Given the description of an element on the screen output the (x, y) to click on. 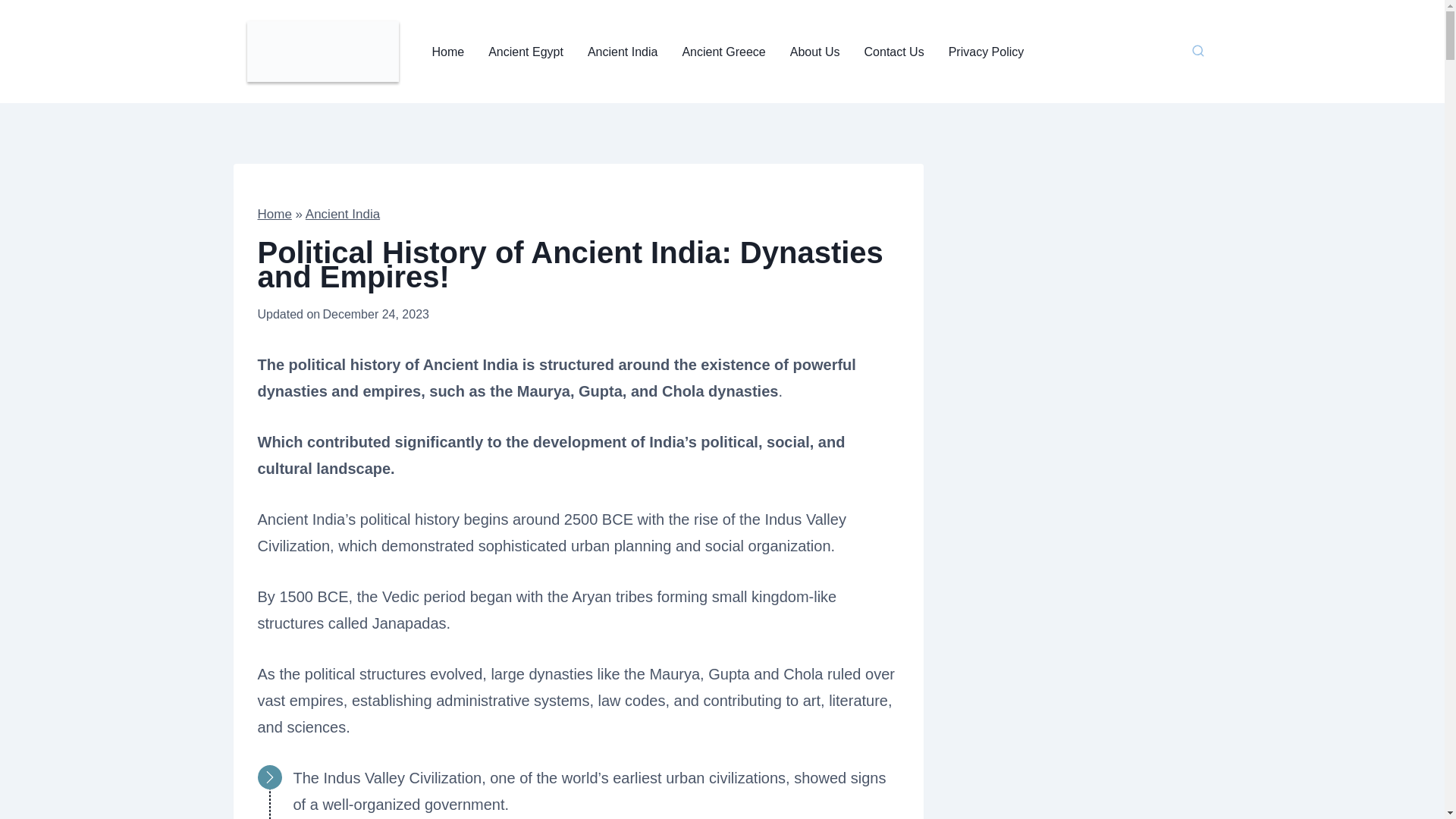
Ancient India (622, 51)
Ancient Egypt (525, 51)
Privacy Policy (986, 51)
About Us (814, 51)
Contact Us (893, 51)
Ancient India (342, 214)
Home (274, 214)
Ancient Greece (723, 51)
Home (448, 51)
